Given the description of an element on the screen output the (x, y) to click on. 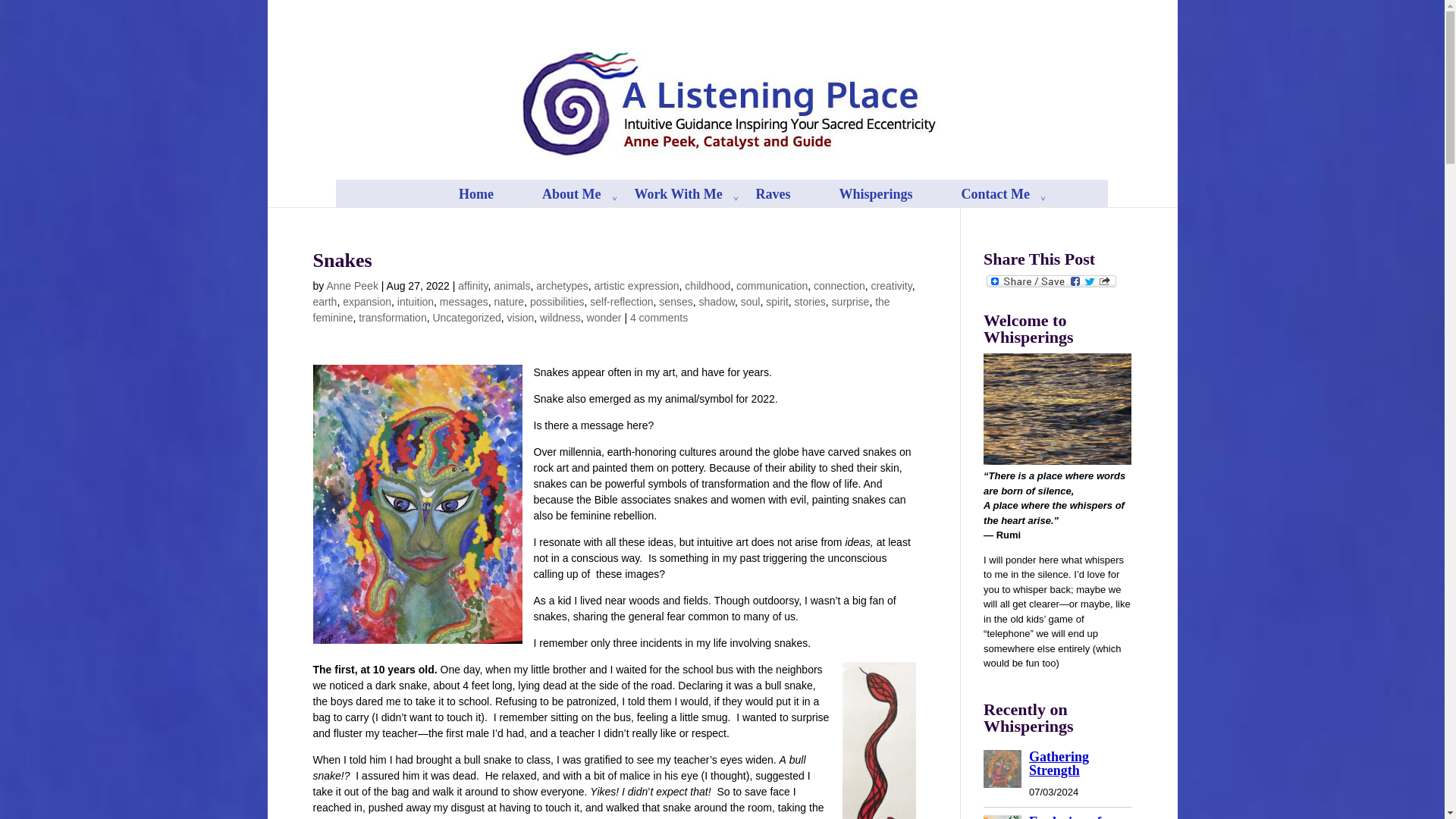
artistic expression (636, 285)
Raves (788, 203)
Explosion of Green (1065, 816)
Work With Me (684, 203)
childhood (707, 285)
Gathering Strength (1059, 763)
archetypes (561, 285)
Home (491, 203)
Explosion of Green (1003, 816)
connection (838, 285)
About Me (578, 203)
Anne Peek (352, 285)
animals (511, 285)
affinity (472, 285)
Whisperings (890, 203)
